Given the description of an element on the screen output the (x, y) to click on. 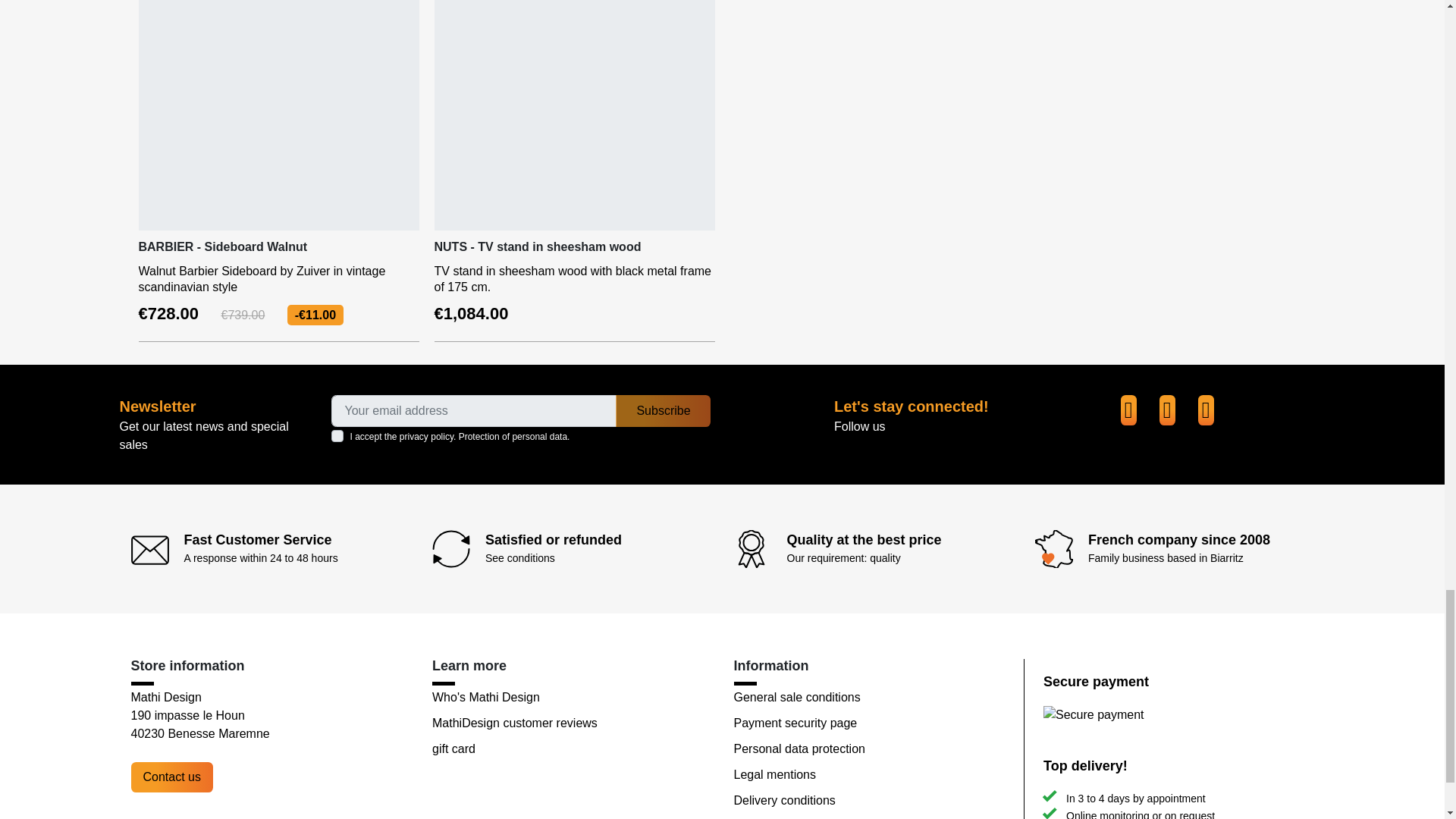
Subscribe (662, 410)
